Given the description of an element on the screen output the (x, y) to click on. 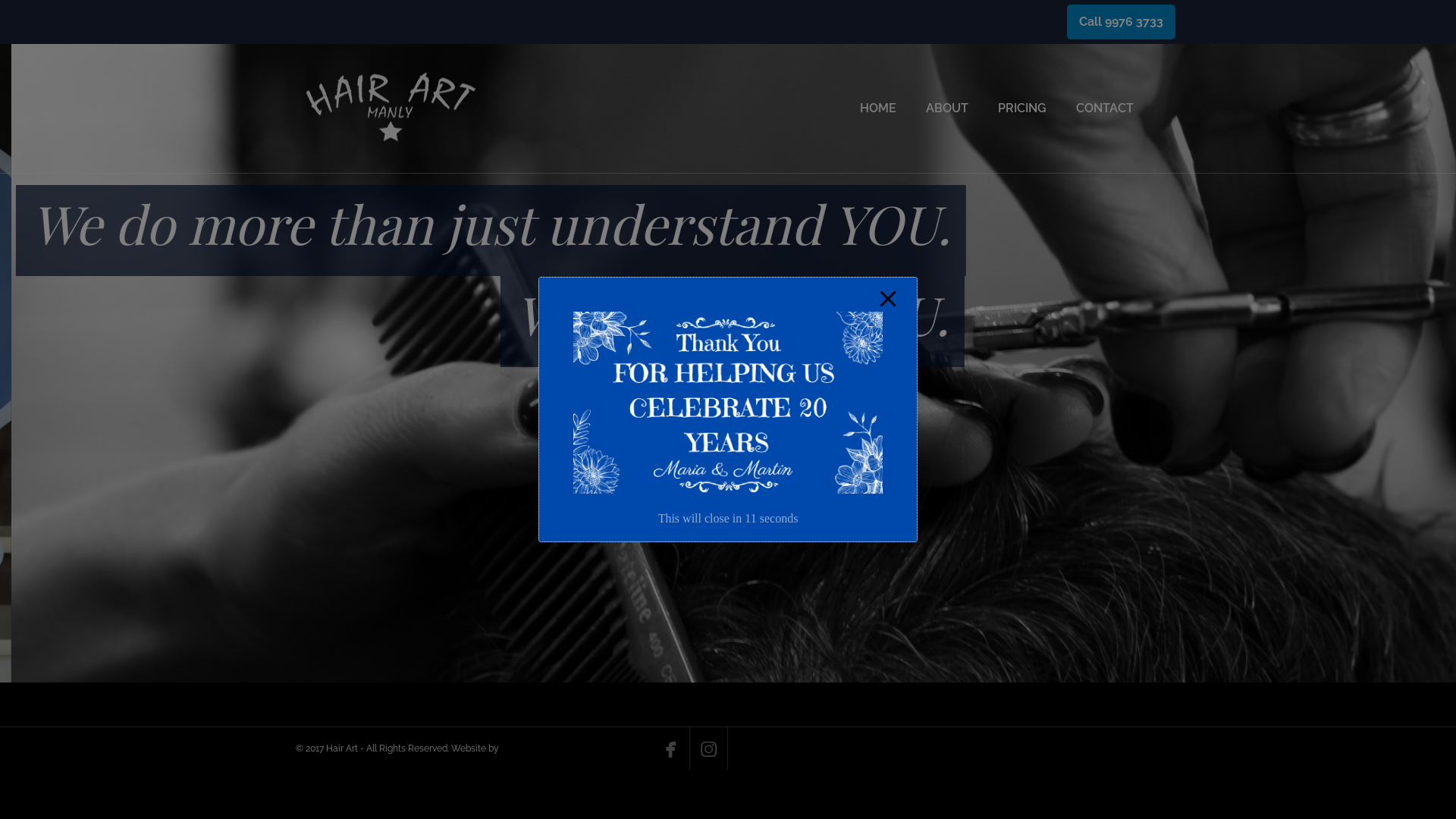
HOME Element type: text (877, 107)
CONTACT Element type: text (1104, 107)
PRICING Element type: text (1021, 107)
ABOUT Element type: text (946, 107)
Call 9976 3733 Element type: text (1120, 21)
